Given the description of an element on the screen output the (x, y) to click on. 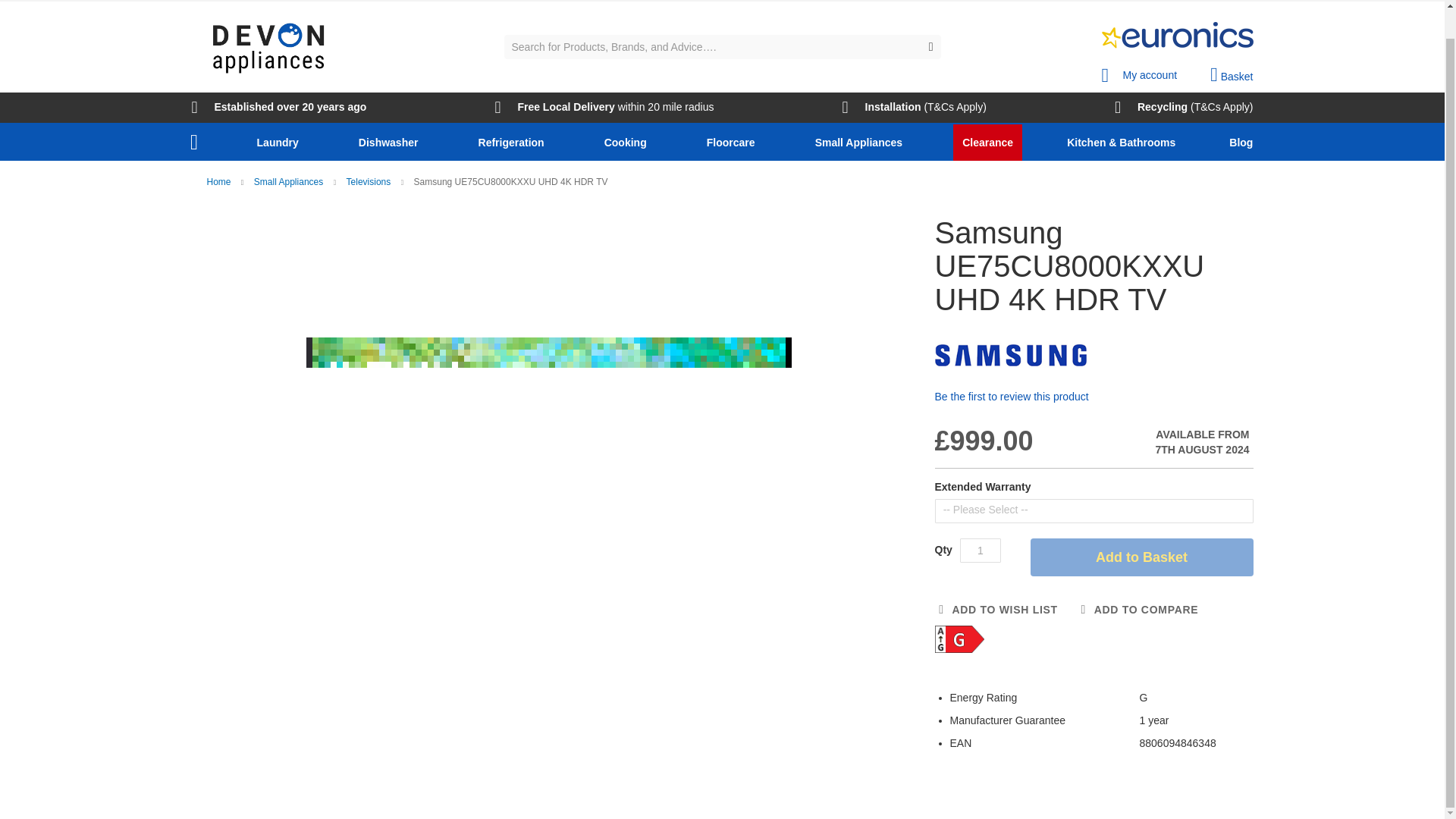
Qty (980, 550)
Installation (882, 107)
Dishwasher (391, 142)
1 (980, 550)
My account (1138, 71)
For more on Samsung, click here. (1010, 355)
Availability (1165, 442)
Basket (1230, 74)
Refrigeration (513, 142)
Free Local Delivery within 20 mile radius (604, 107)
